Given the description of an element on the screen output the (x, y) to click on. 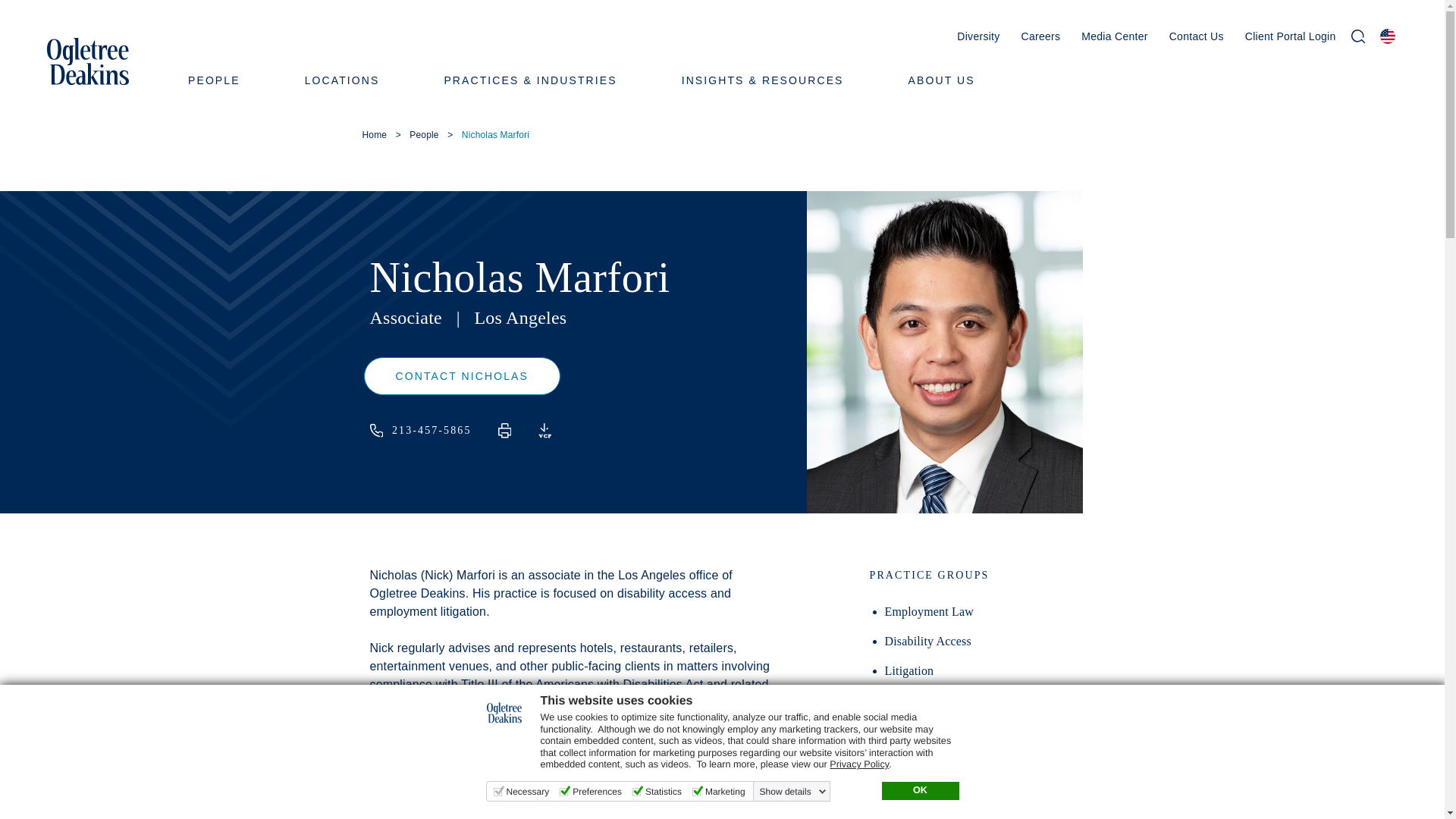
VCF (543, 430)
Privacy Policy (858, 764)
OK (919, 791)
Show details (793, 791)
